Given the description of an element on the screen output the (x, y) to click on. 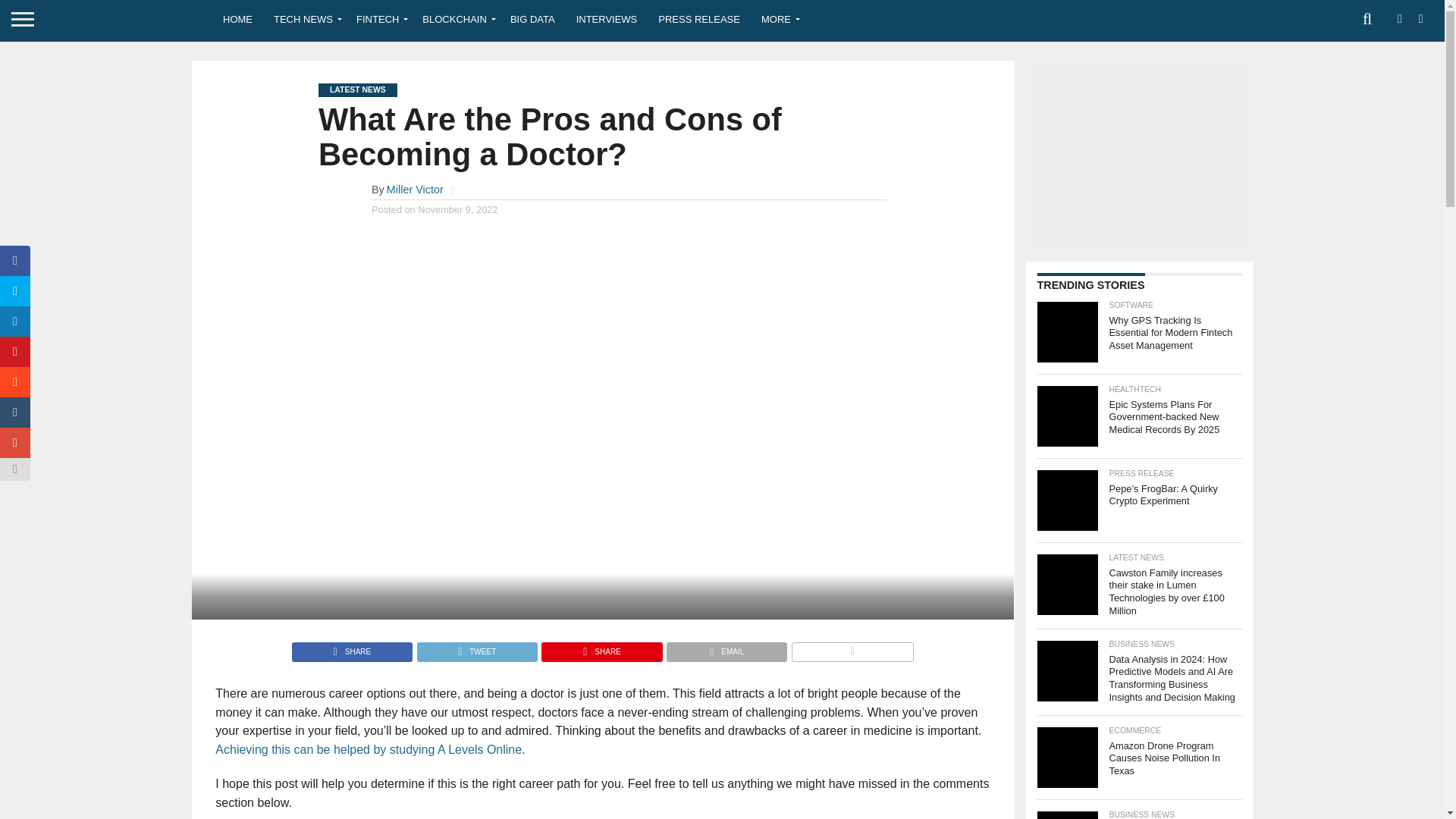
Share on Facebook (352, 647)
Pin This Post (601, 647)
Tweet This Post (476, 647)
Posts by Miller Victor (415, 189)
